Given the description of an element on the screen output the (x, y) to click on. 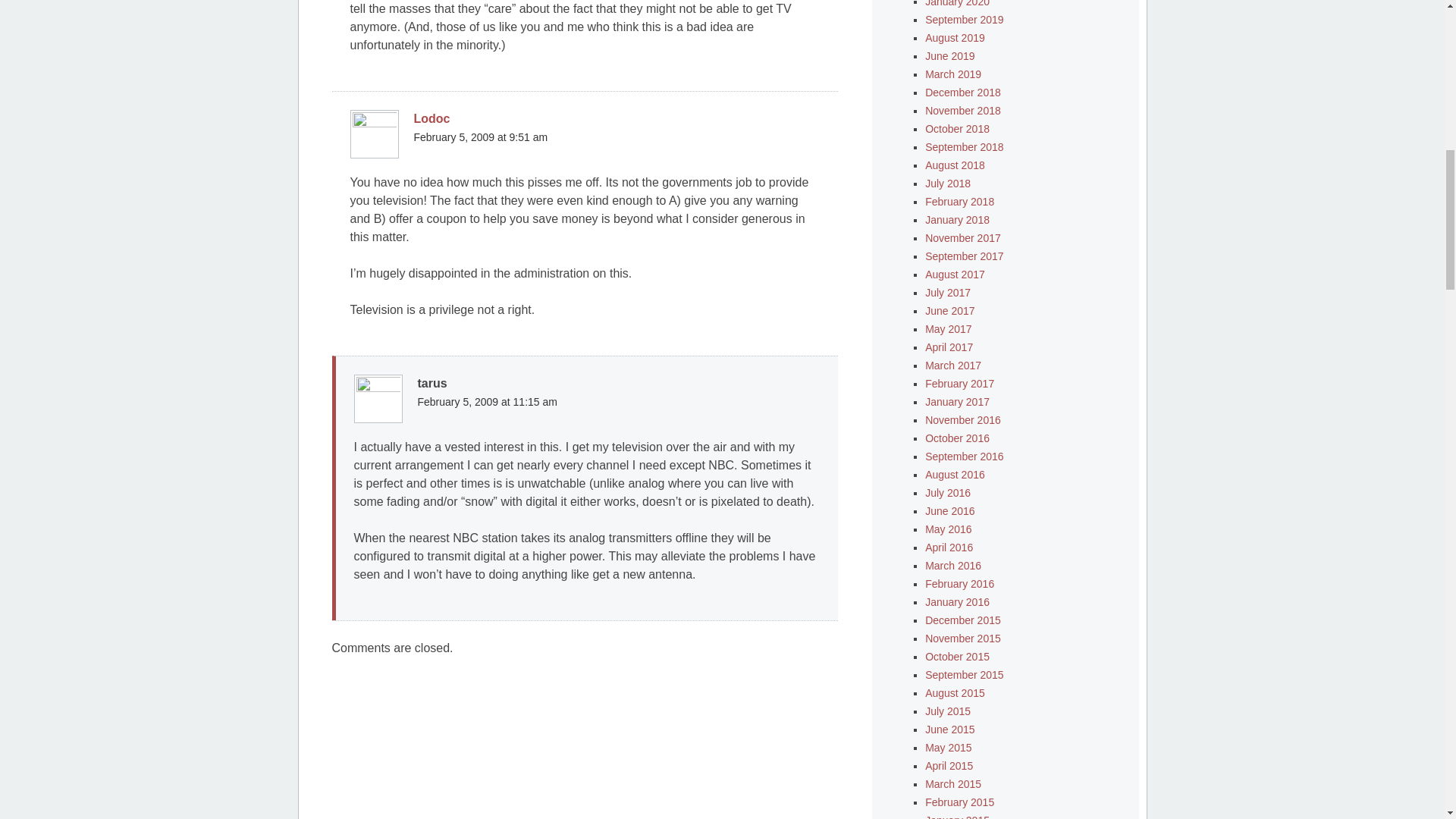
February 5, 2009 at 11:15 am (486, 401)
Lodoc (431, 118)
February 5, 2009 at 9:51 am (480, 137)
